Given the description of an element on the screen output the (x, y) to click on. 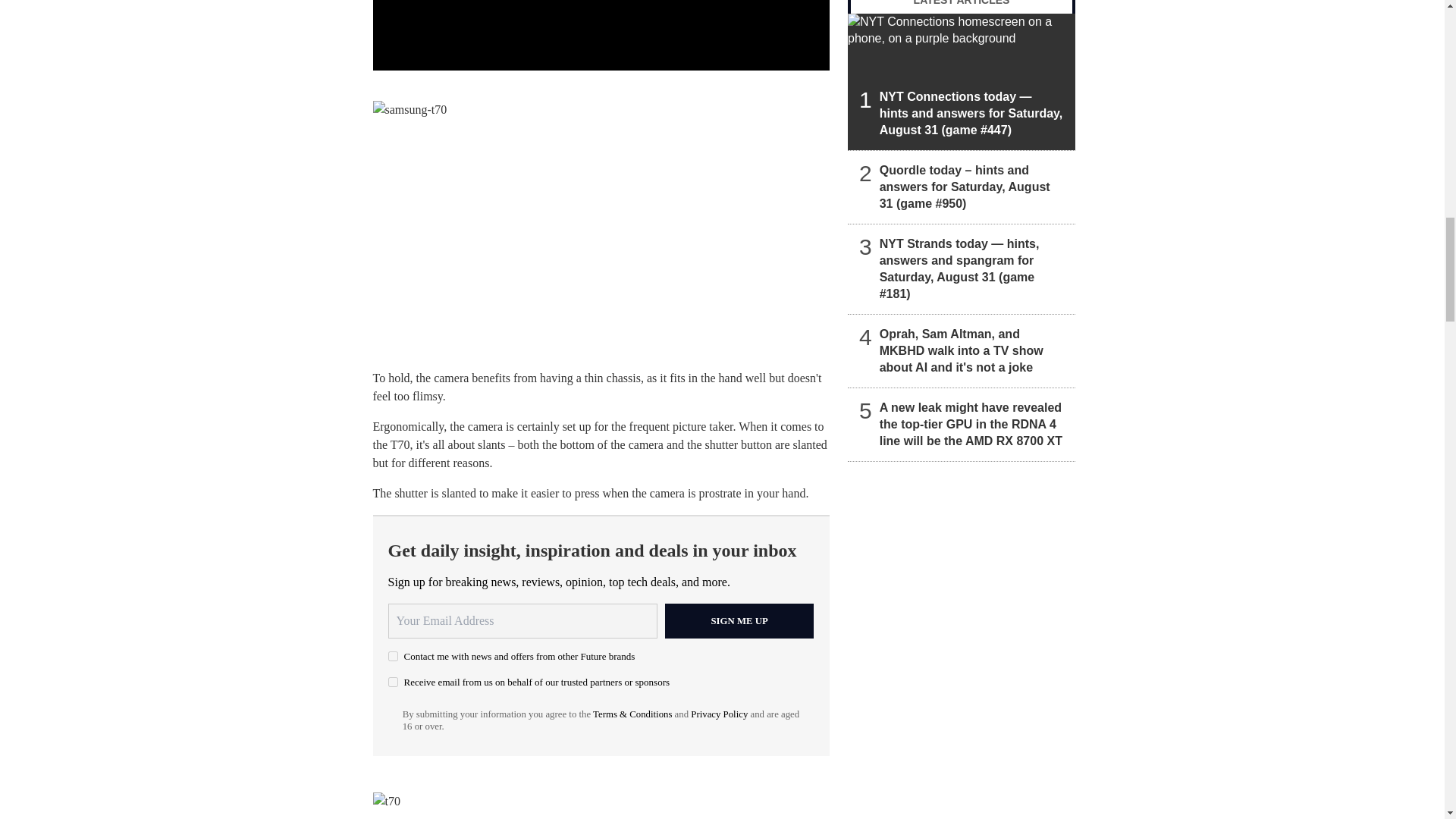
on (392, 682)
Sign me up (739, 620)
on (392, 655)
